Given the description of an element on the screen output the (x, y) to click on. 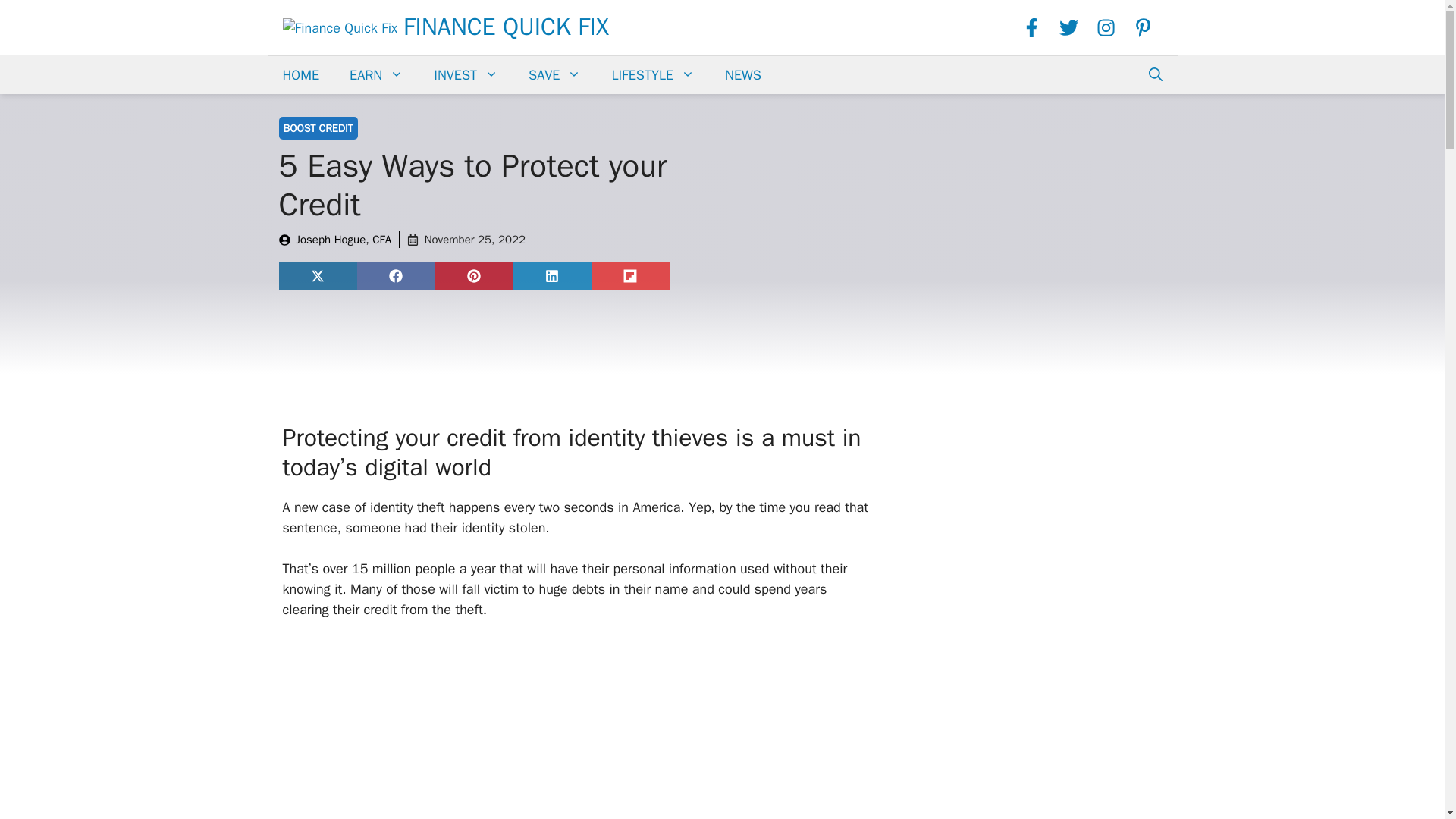
FINANCE QUICK FIX (505, 26)
